Given the description of an element on the screen output the (x, y) to click on. 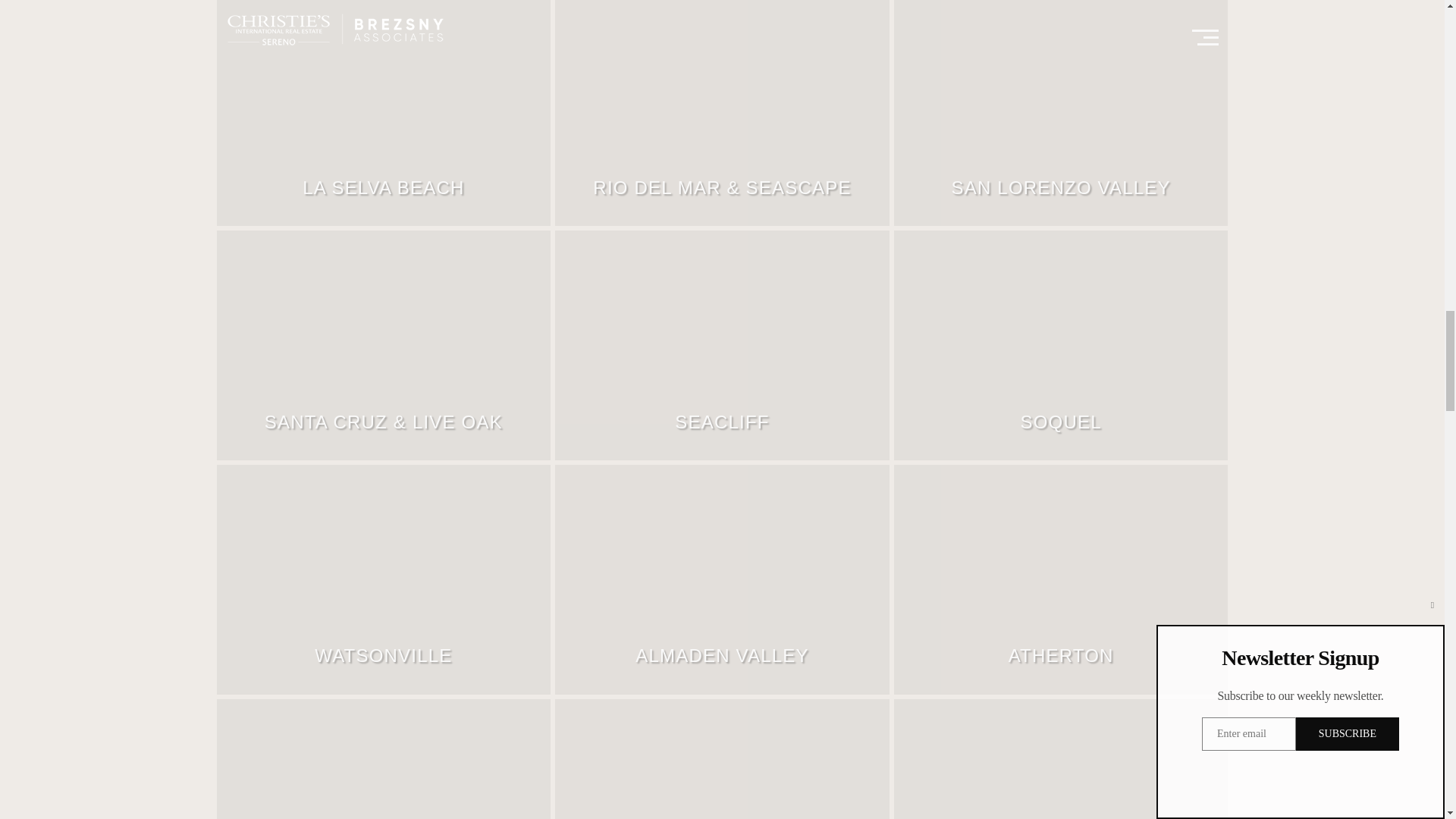
SAN LORENZO VALLEY (1060, 114)
LA SELVA BEACH (383, 114)
SOQUEL (1060, 345)
SEACLIFF (722, 345)
